Given the description of an element on the screen output the (x, y) to click on. 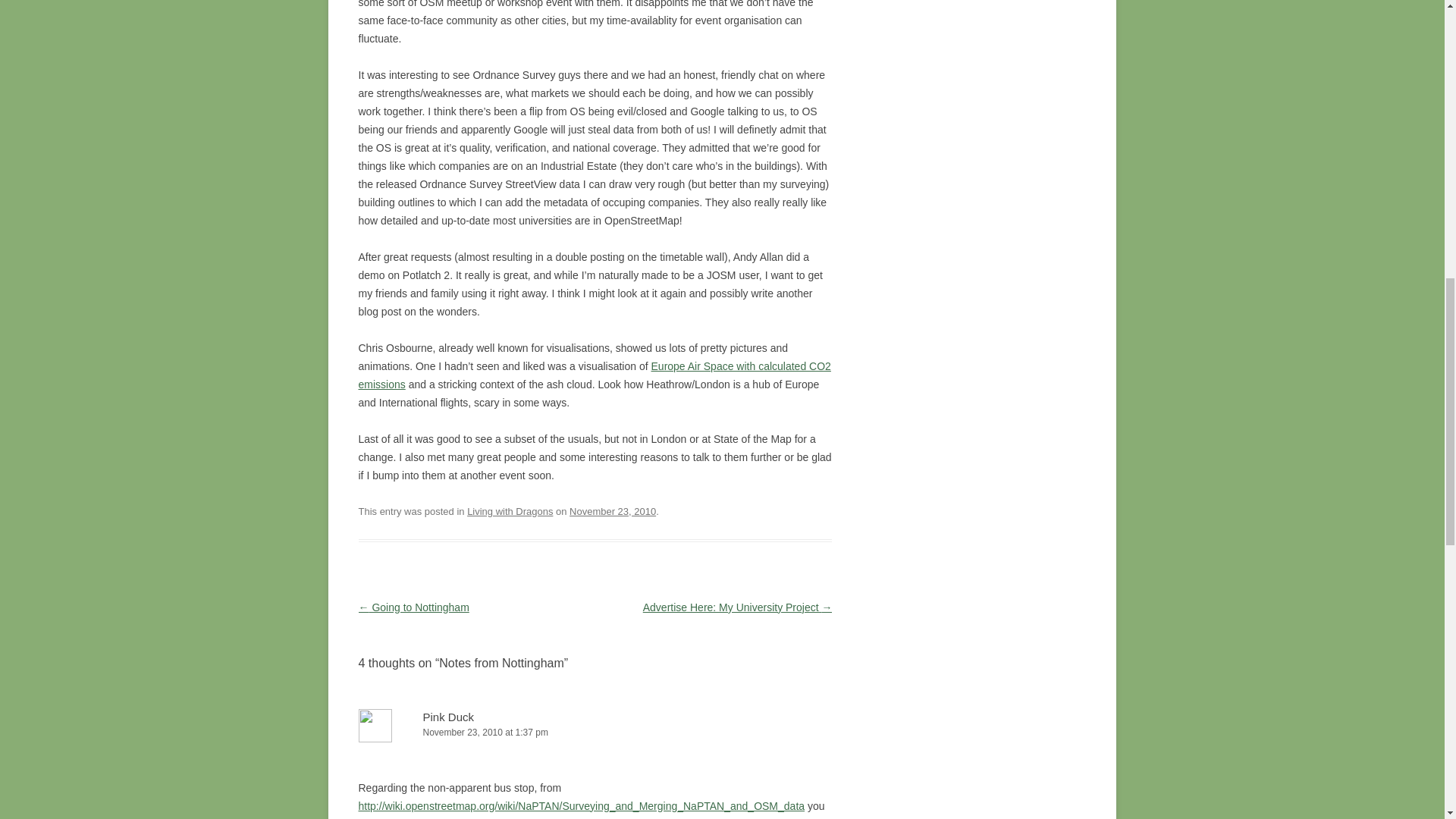
November 23, 2010 (612, 511)
Living with Dragons (510, 511)
2:06 am (612, 511)
November 23, 2010 at 1:37 pm (594, 732)
Europe Air Space with calculated CO2 emissions (593, 375)
